Given the description of an element on the screen output the (x, y) to click on. 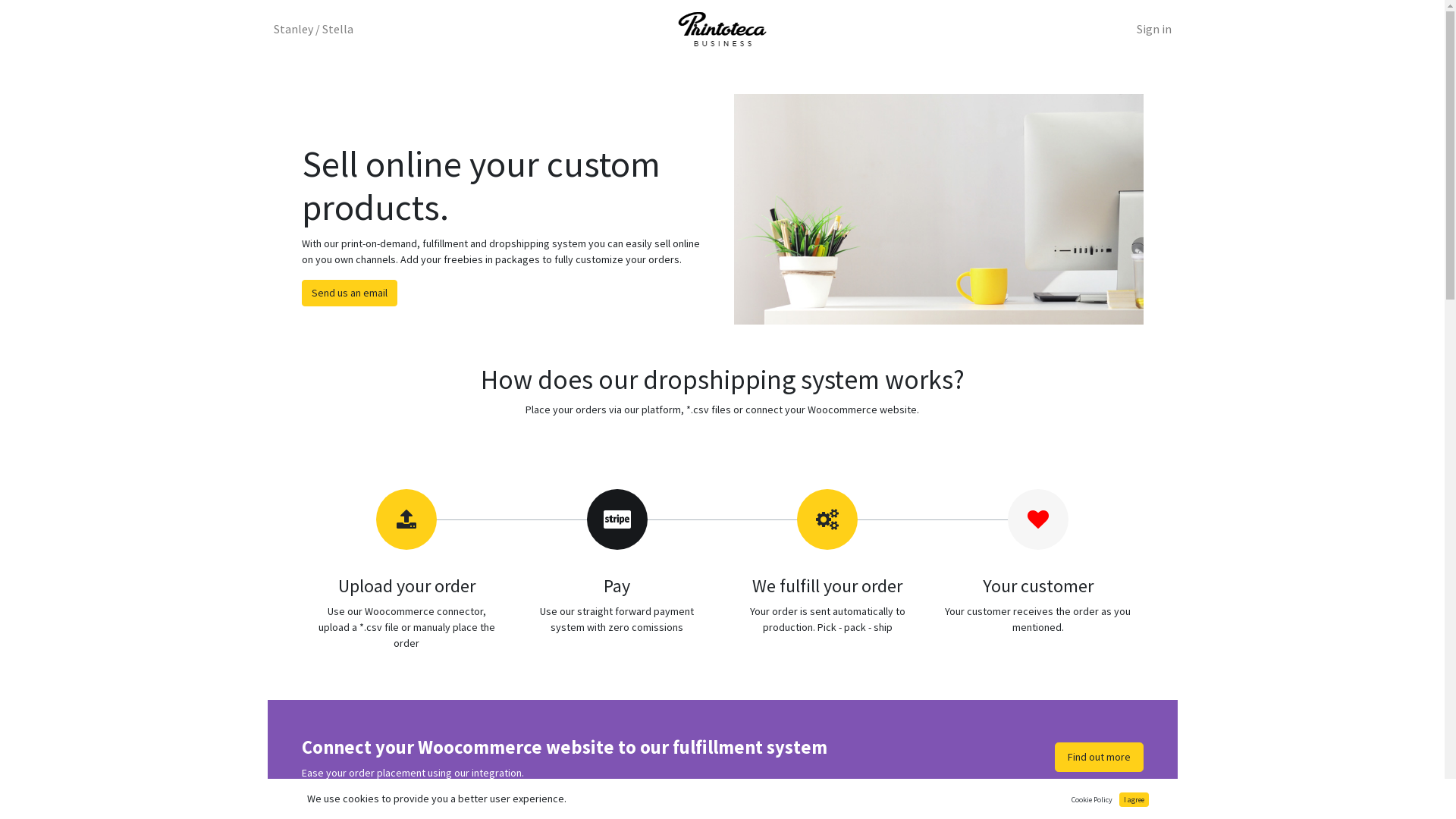
Sign in Element type: text (1152, 28)
Send us an email Element type: text (349, 292)
Find out more Element type: text (1098, 756)
Printoteca Business Element type: hover (721, 28)
Stanley / Stella Element type: text (312, 28)
I agree Element type: text (1133, 799)
Cookie Policy Element type: text (1091, 799)
